Given the description of an element on the screen output the (x, y) to click on. 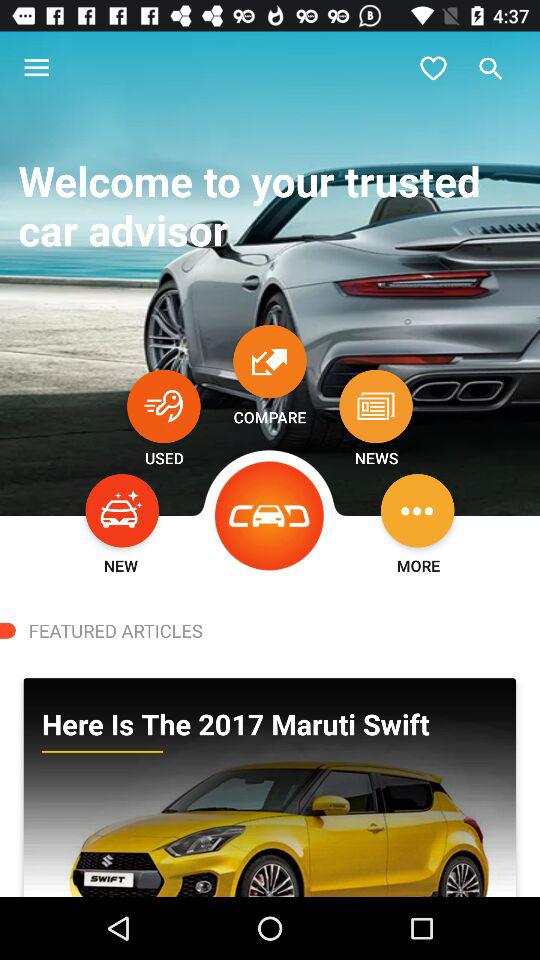
open used cars (163, 406)
